Given the description of an element on the screen output the (x, y) to click on. 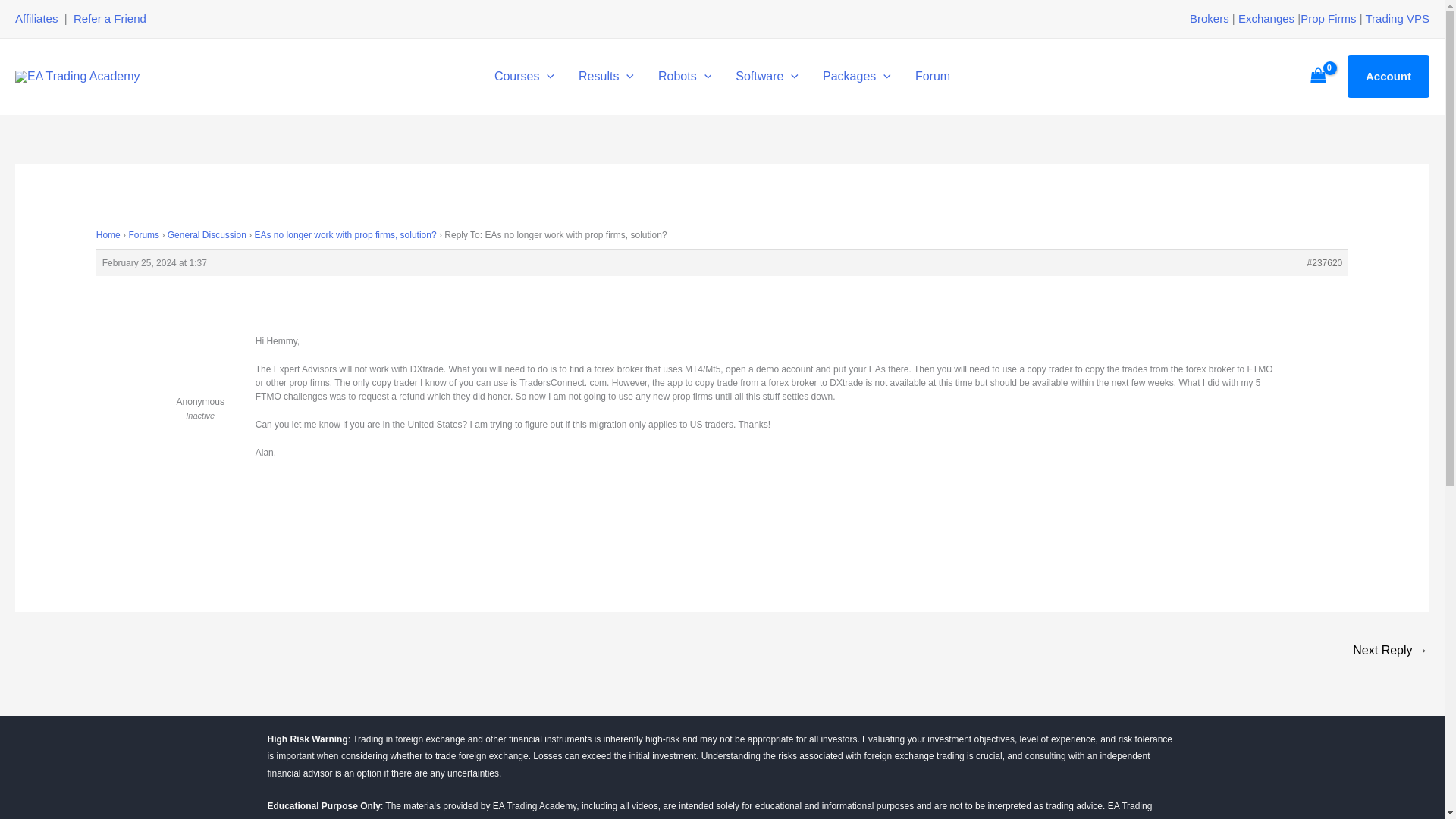
Brokers (1208, 18)
Software (766, 76)
Trading VPS (1397, 18)
Prop Firms (1327, 18)
Affiliates (36, 18)
Refer a Friend (110, 18)
Robots (684, 76)
Results (606, 76)
Exchanges (1266, 18)
Courses (523, 76)
